Given the description of an element on the screen output the (x, y) to click on. 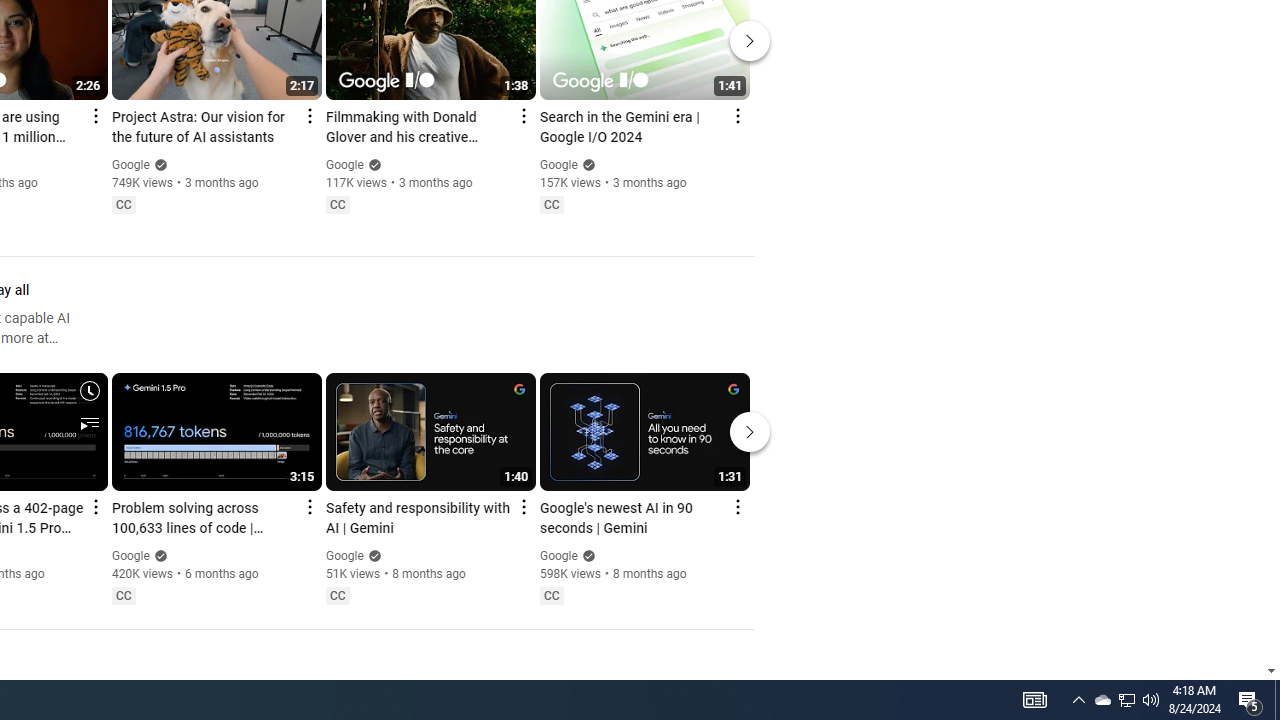
Next (749, 431)
Verified (586, 555)
Action menu (736, 506)
Google (558, 556)
Closed captions (551, 595)
